Given the description of an element on the screen output the (x, y) to click on. 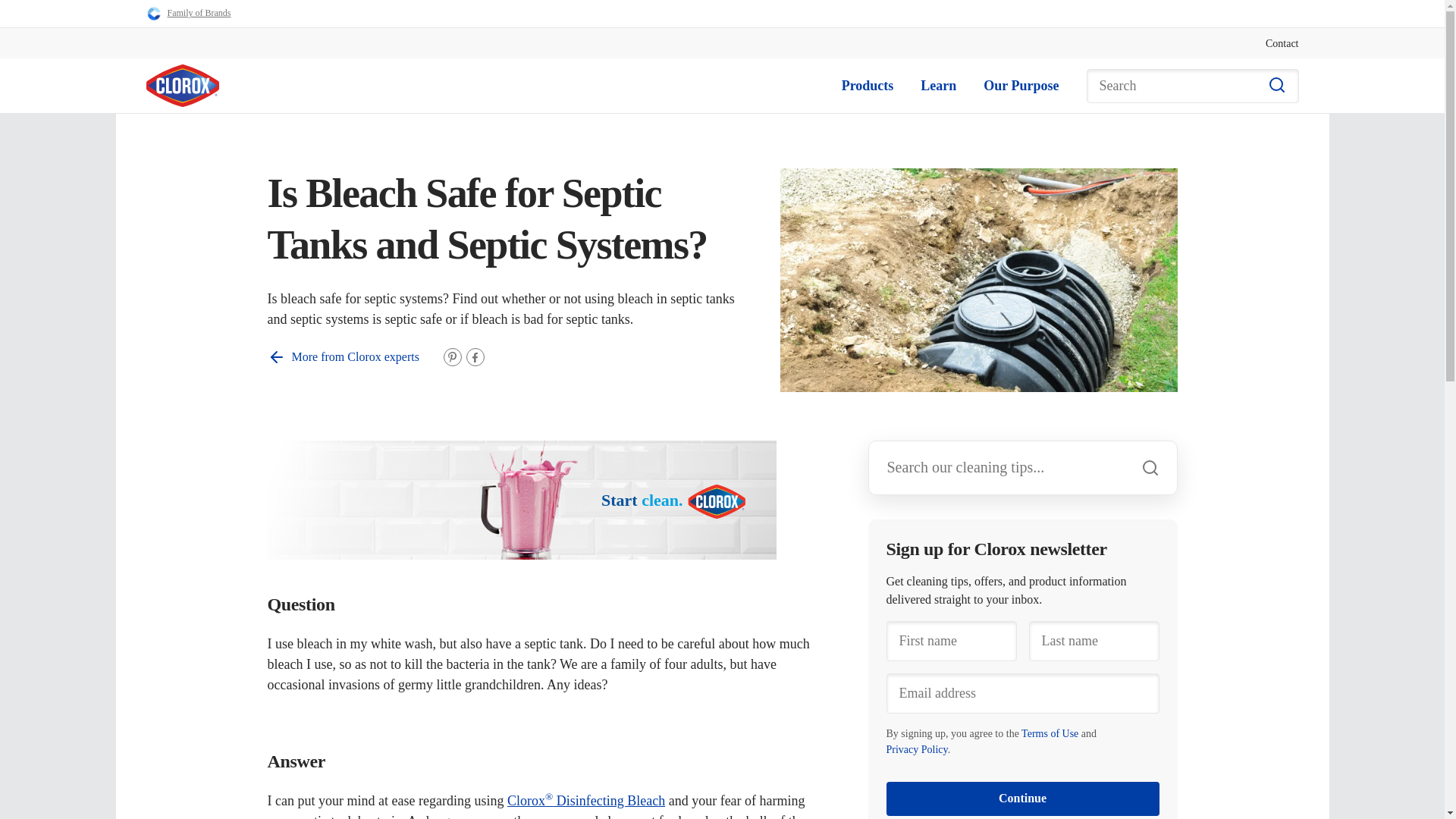
More from Clorox experts (342, 357)
Search (1192, 85)
Learn (938, 85)
Products (867, 85)
Products (867, 86)
Our Purpose (1021, 86)
Our Purpose (1021, 85)
Privacy Policy (916, 749)
Continue (1021, 798)
Terms of Use (1050, 733)
Contact (1281, 43)
Family of Brands (187, 13)
